Given the description of an element on the screen output the (x, y) to click on. 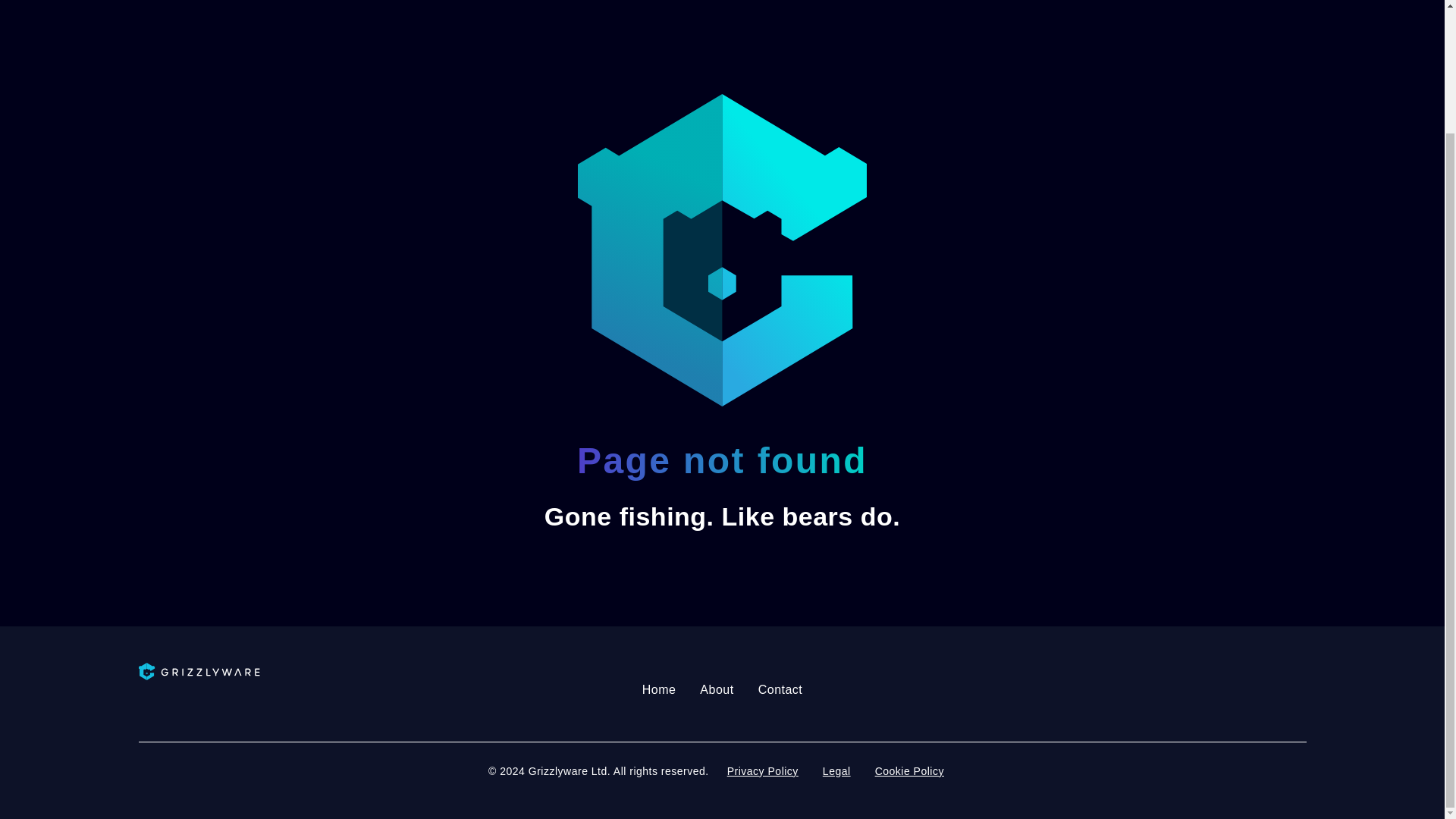
Privacy Policy (762, 771)
Legal (836, 771)
Home (659, 689)
Cookie Policy (909, 771)
About (716, 689)
Contact (780, 689)
